Given the description of an element on the screen output the (x, y) to click on. 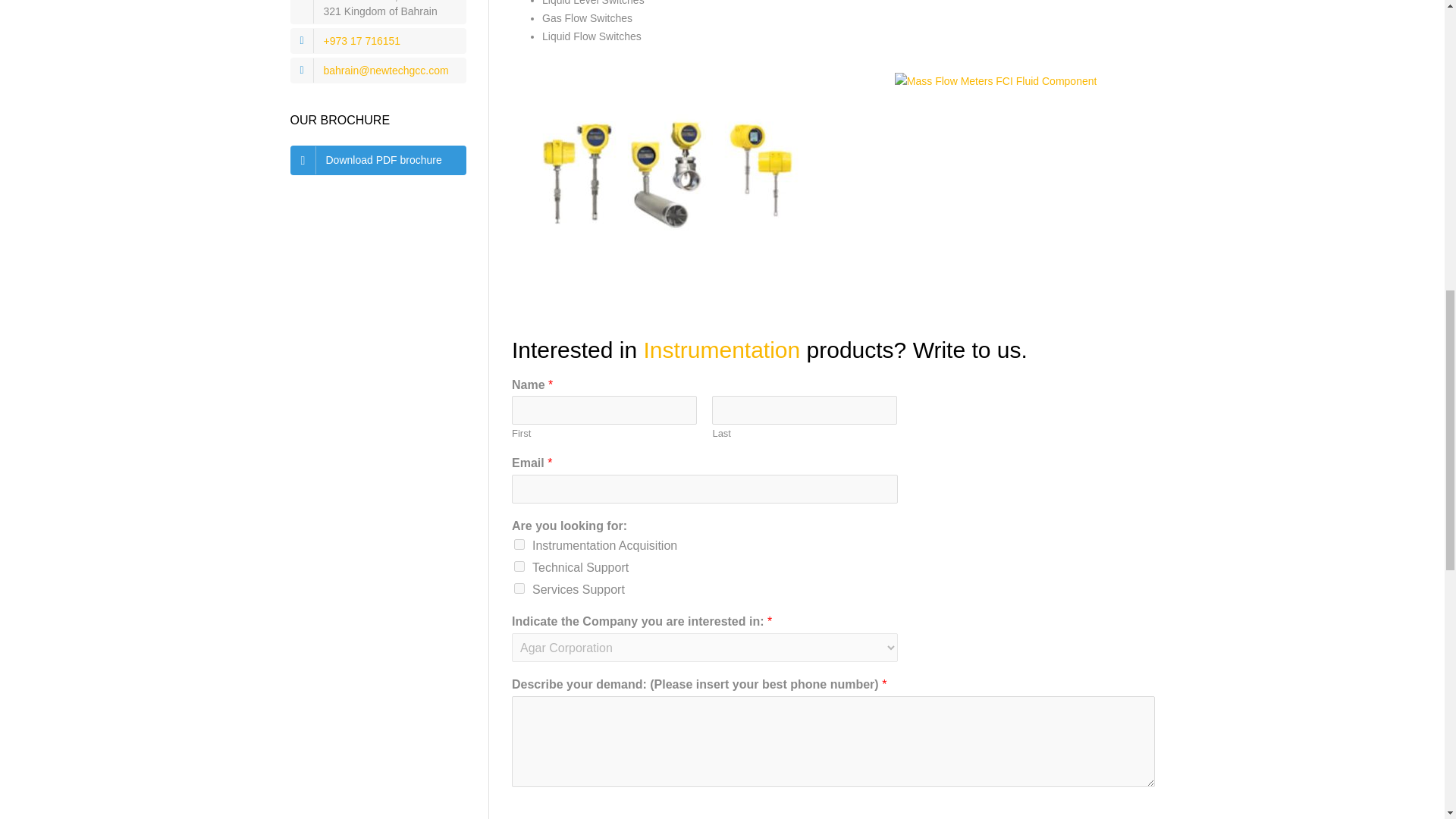
Mass Flow Meters FCI Fluid Component (670, 183)
Instrumentation Acquisition  (518, 543)
Services Support (518, 588)
Mass Flow Meters FCI Fluid Component (996, 81)
Technical Support (518, 566)
